Given the description of an element on the screen output the (x, y) to click on. 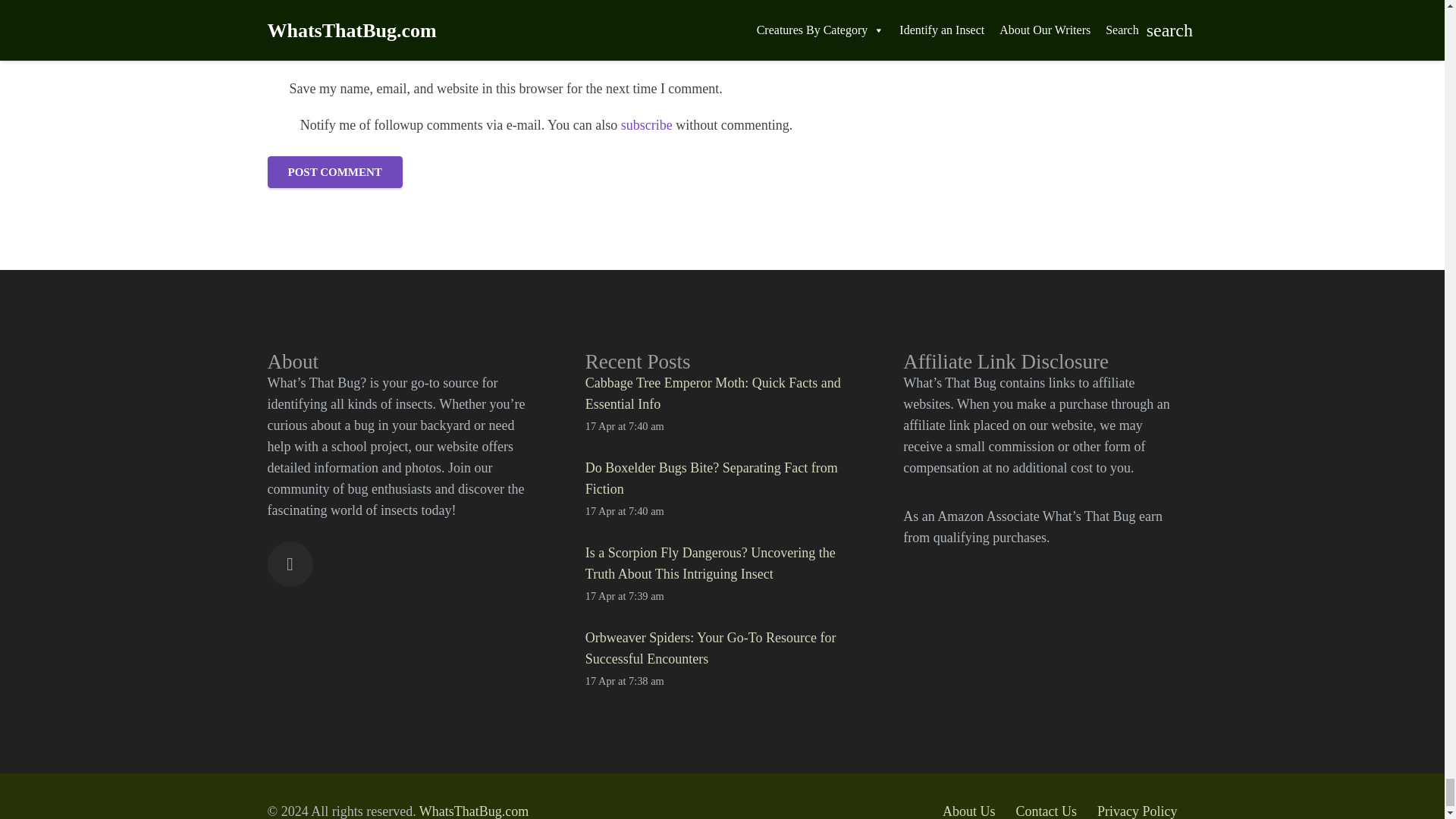
yes (278, 125)
1 (274, 89)
